Given the description of an element on the screen output the (x, y) to click on. 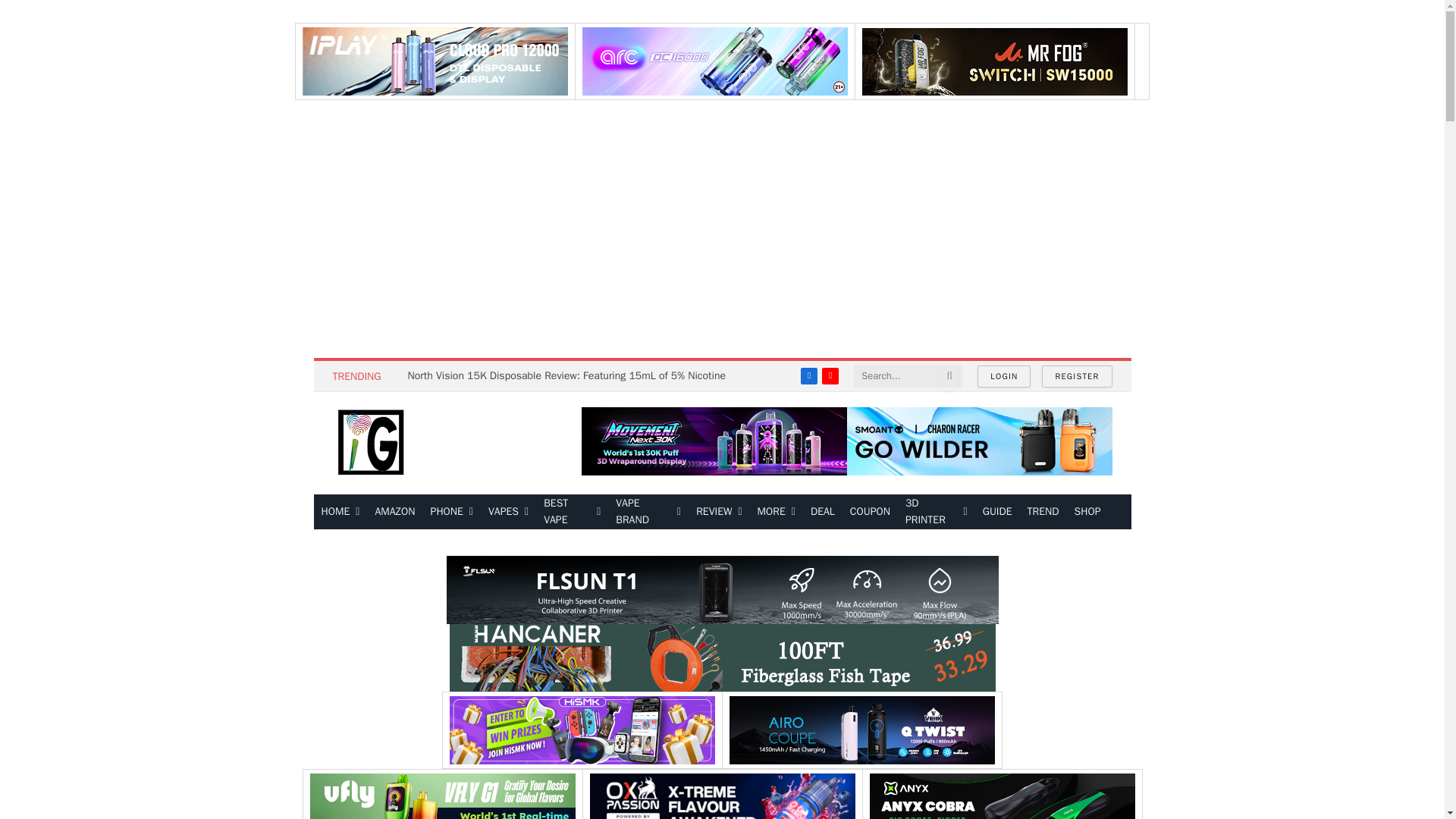
Facebook (808, 375)
YouTube (830, 375)
REGISTER (1077, 376)
AMAZON (394, 511)
HOME (341, 511)
PHONE (451, 511)
LOGIN (1003, 376)
